Given the description of an element on the screen output the (x, y) to click on. 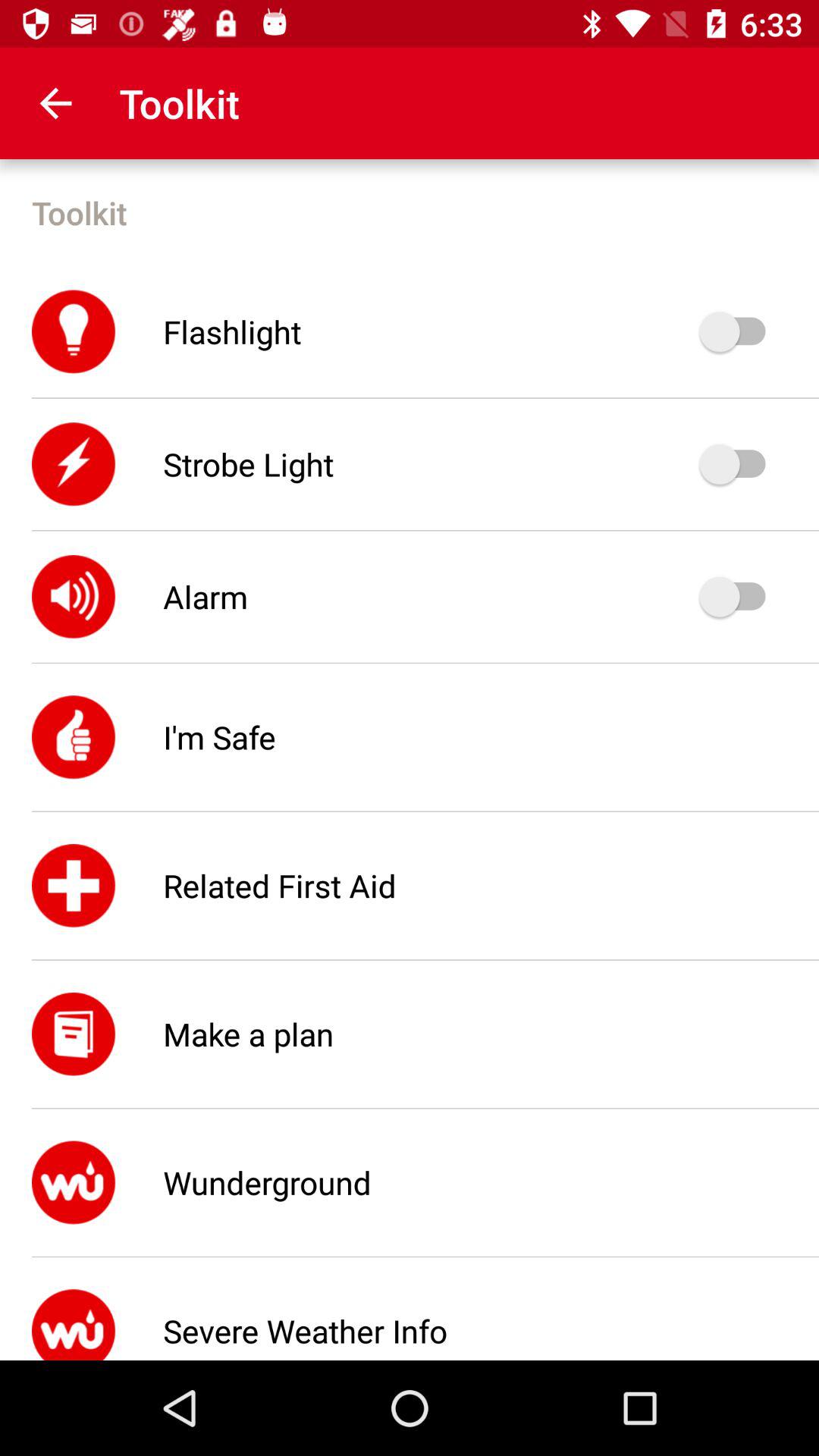
press the item next to toolkit item (55, 103)
